Given the description of an element on the screen output the (x, y) to click on. 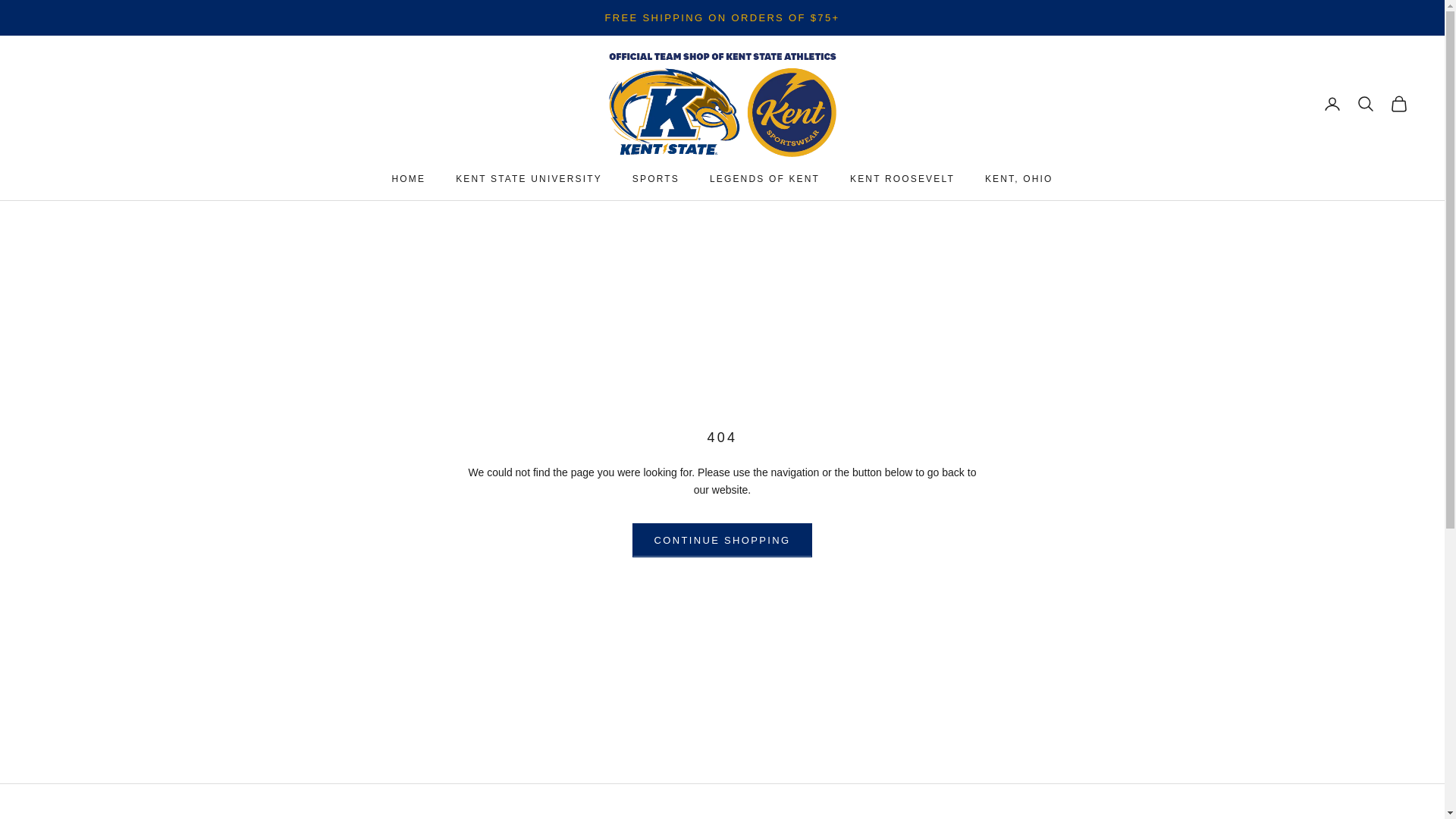
HOME (408, 178)
Open search (1365, 104)
Kent Sportswear (721, 103)
Open cart (1398, 104)
Open account page (1331, 104)
